Given the description of an element on the screen output the (x, y) to click on. 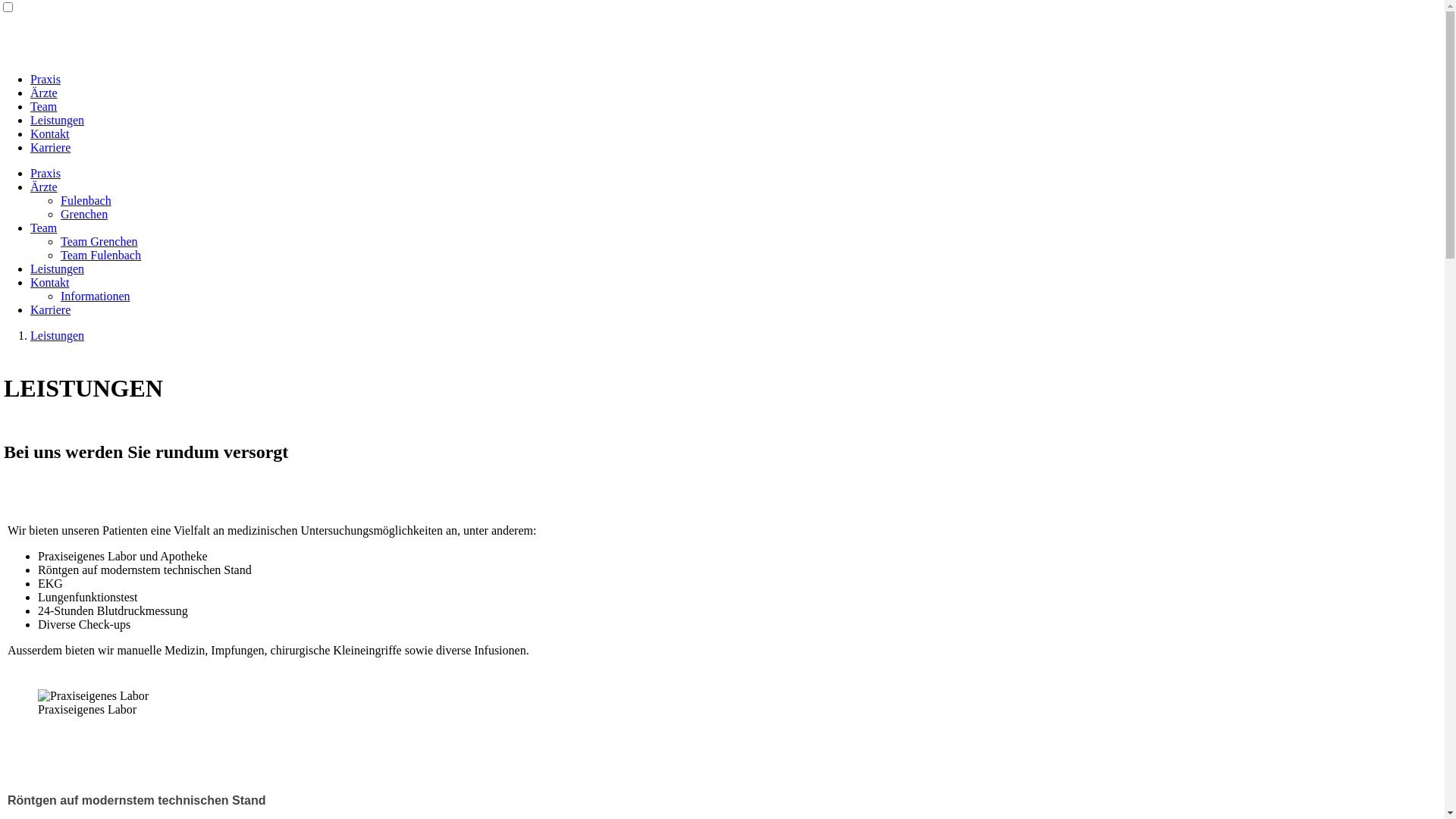
Leistungen Element type: text (57, 119)
Fulenbach Element type: text (85, 200)
Praxis Element type: text (45, 78)
Leistungen Element type: text (57, 335)
Karriere Element type: text (50, 147)
Informationen Element type: text (95, 295)
Karriere Element type: text (50, 309)
Praxis Element type: text (45, 172)
Team Grenchen Element type: text (99, 241)
Team Element type: text (43, 227)
Kontakt Element type: text (49, 133)
Leistungen Element type: text (57, 268)
Grenchen Element type: text (83, 213)
Kontakt Element type: text (49, 282)
Team Element type: text (43, 106)
Team Fulenbach Element type: text (100, 254)
